Given the description of an element on the screen output the (x, y) to click on. 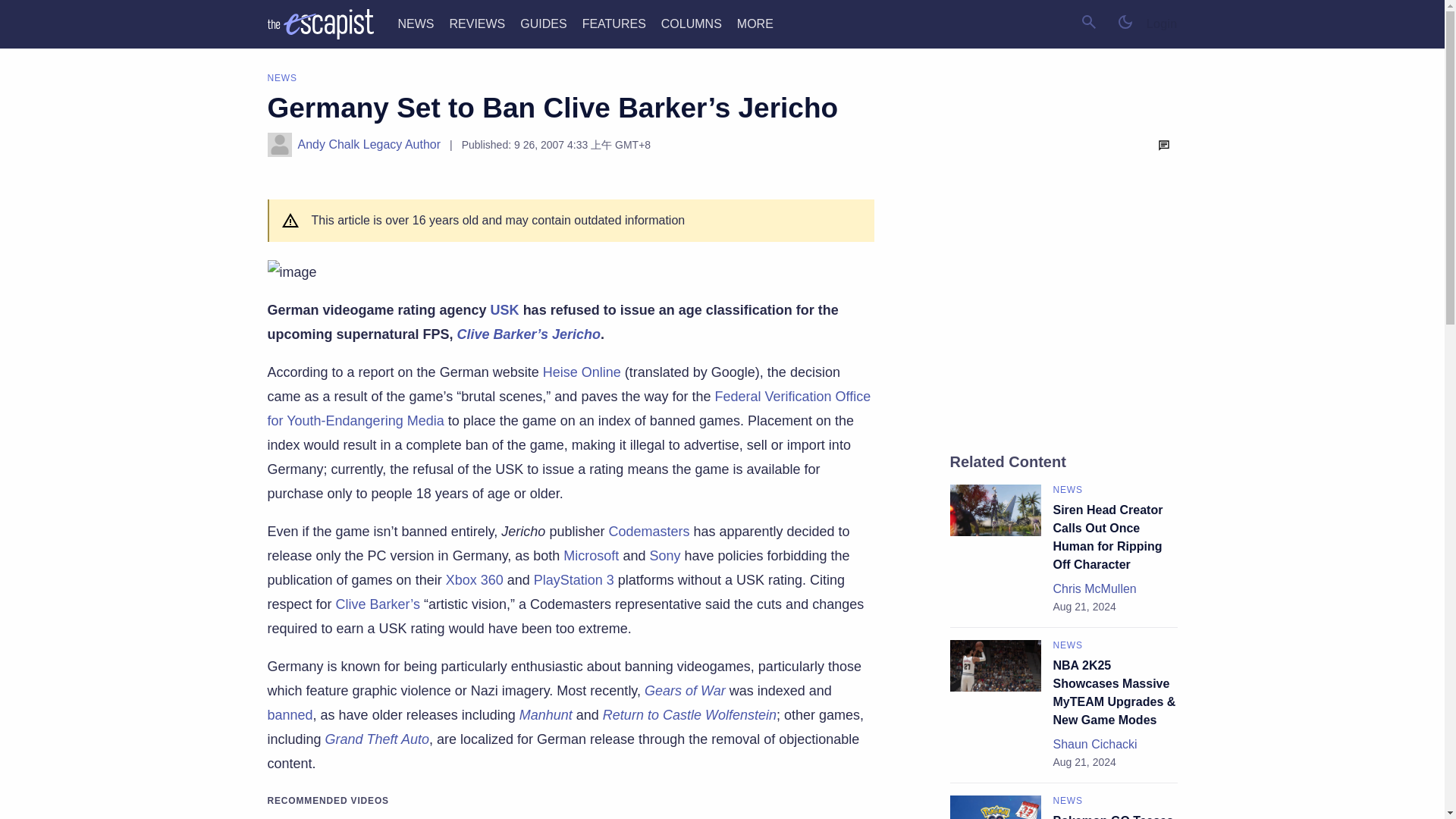
FEATURES (614, 23)
COLUMNS (691, 23)
Search (1088, 21)
Dark Mode (1124, 21)
Login (1162, 23)
REVIEWS (476, 23)
GUIDES (542, 23)
NEWS (415, 23)
